Given the description of an element on the screen output the (x, y) to click on. 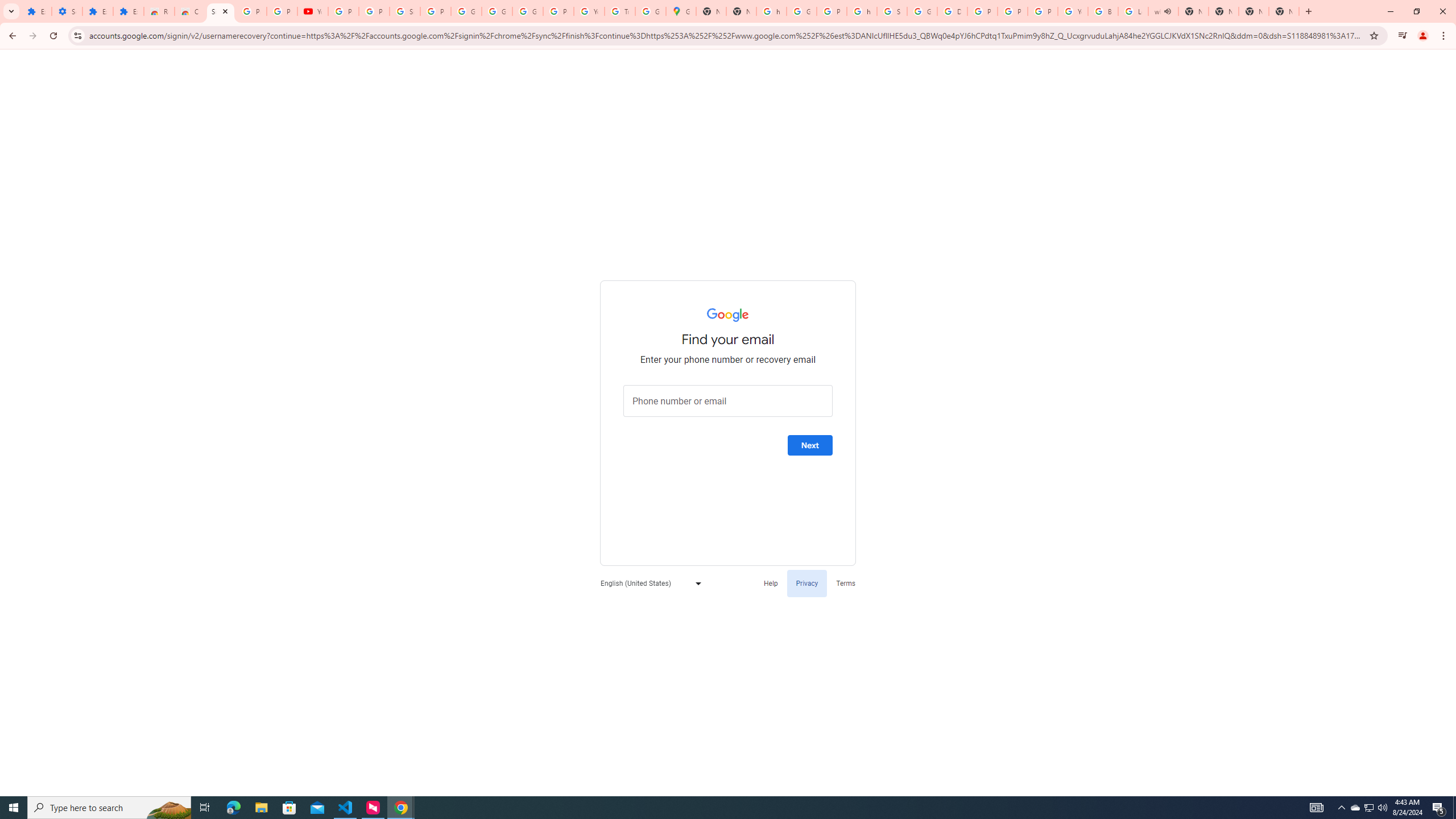
New Tab (1253, 11)
Sign in - Google Accounts (892, 11)
Chrome Web Store - Themes (189, 11)
Privacy Help Center - Policies Help (982, 11)
New Tab (1283, 11)
